Given the description of an element on the screen output the (x, y) to click on. 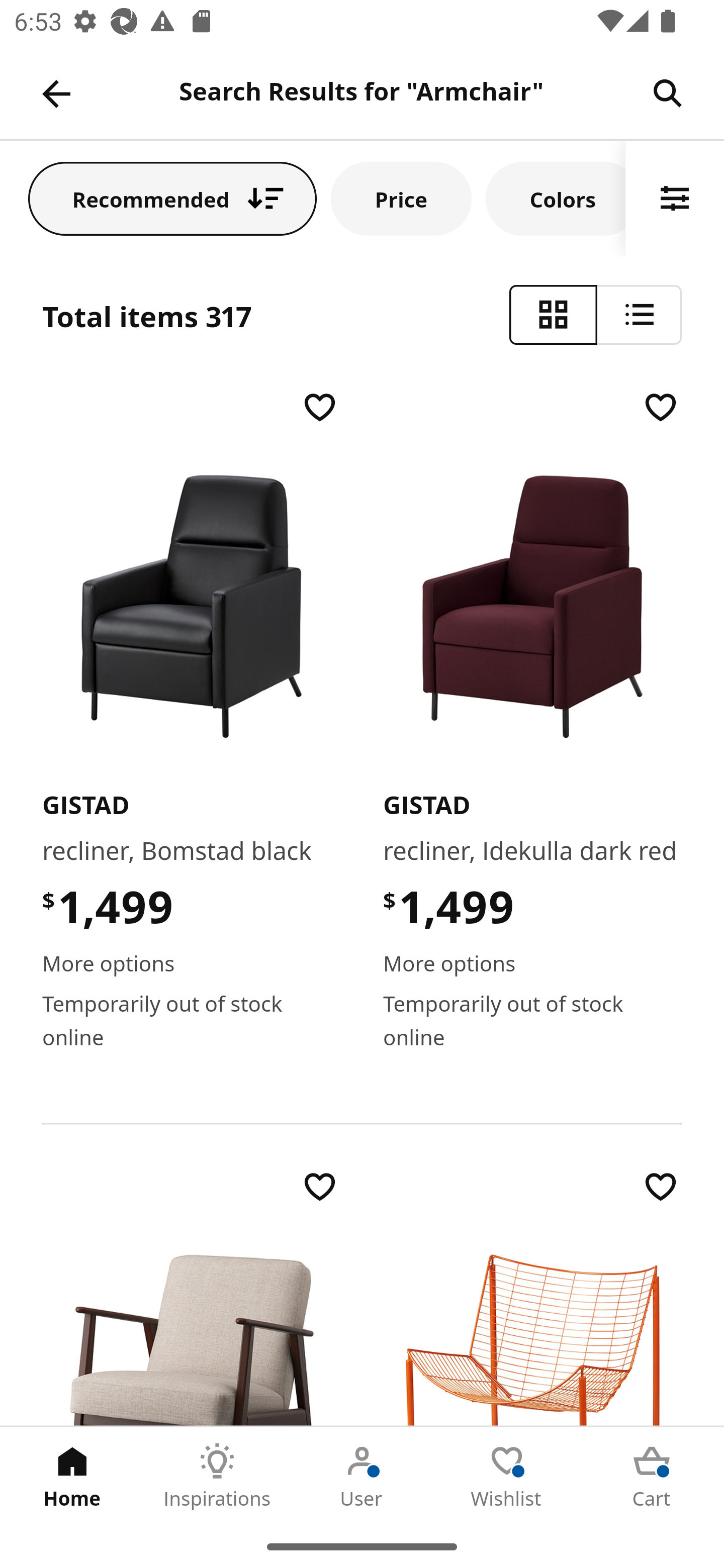
Recommended (172, 198)
Price (400, 198)
Colors (555, 198)
Home
Tab 1 of 5 (72, 1476)
Inspirations
Tab 2 of 5 (216, 1476)
User
Tab 3 of 5 (361, 1476)
Wishlist
Tab 4 of 5 (506, 1476)
Cart
Tab 5 of 5 (651, 1476)
